Given the description of an element on the screen output the (x, y) to click on. 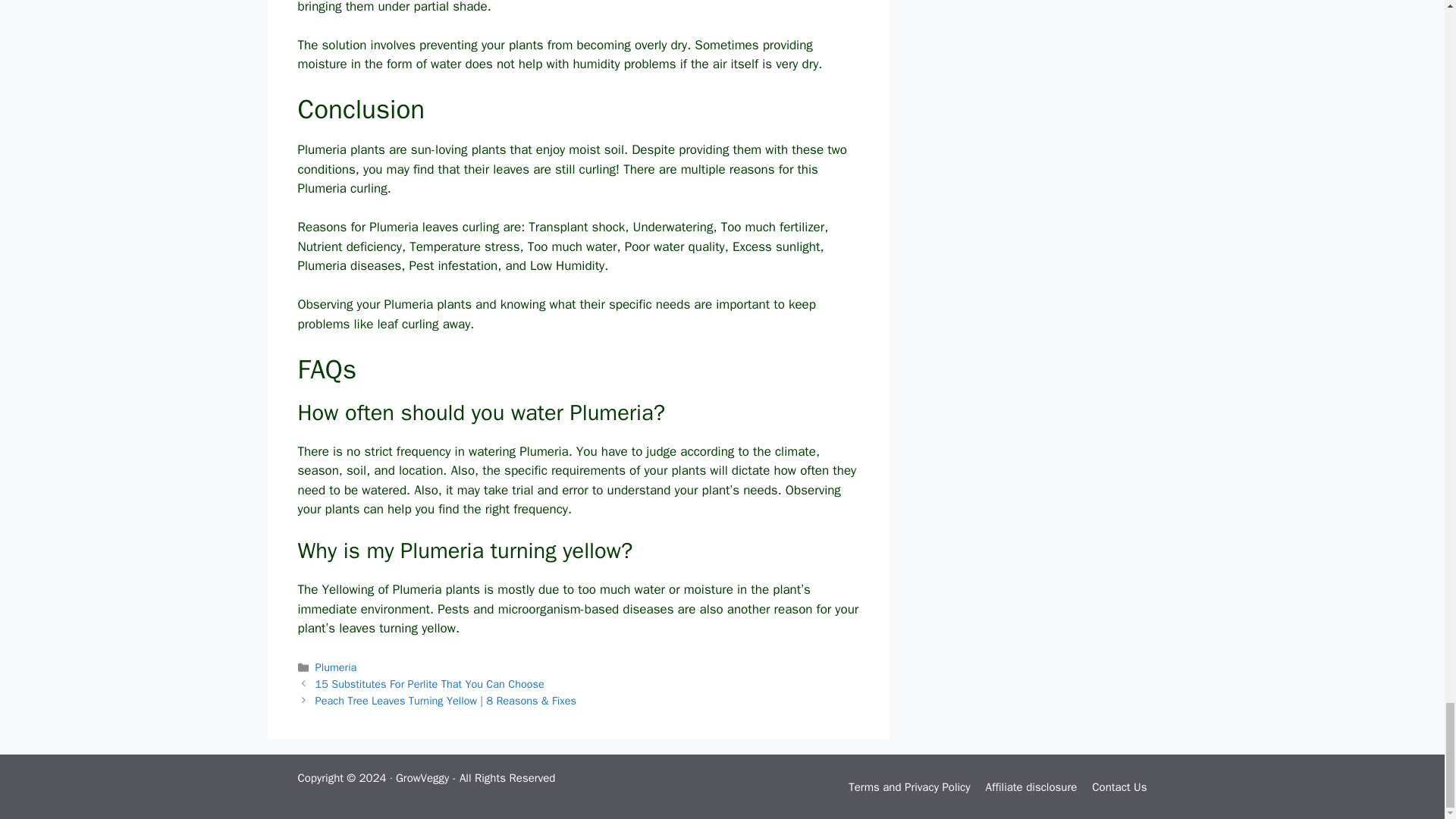
Plumeria (335, 667)
15 Substitutes For Perlite That You Can Choose (429, 684)
